Given the description of an element on the screen output the (x, y) to click on. 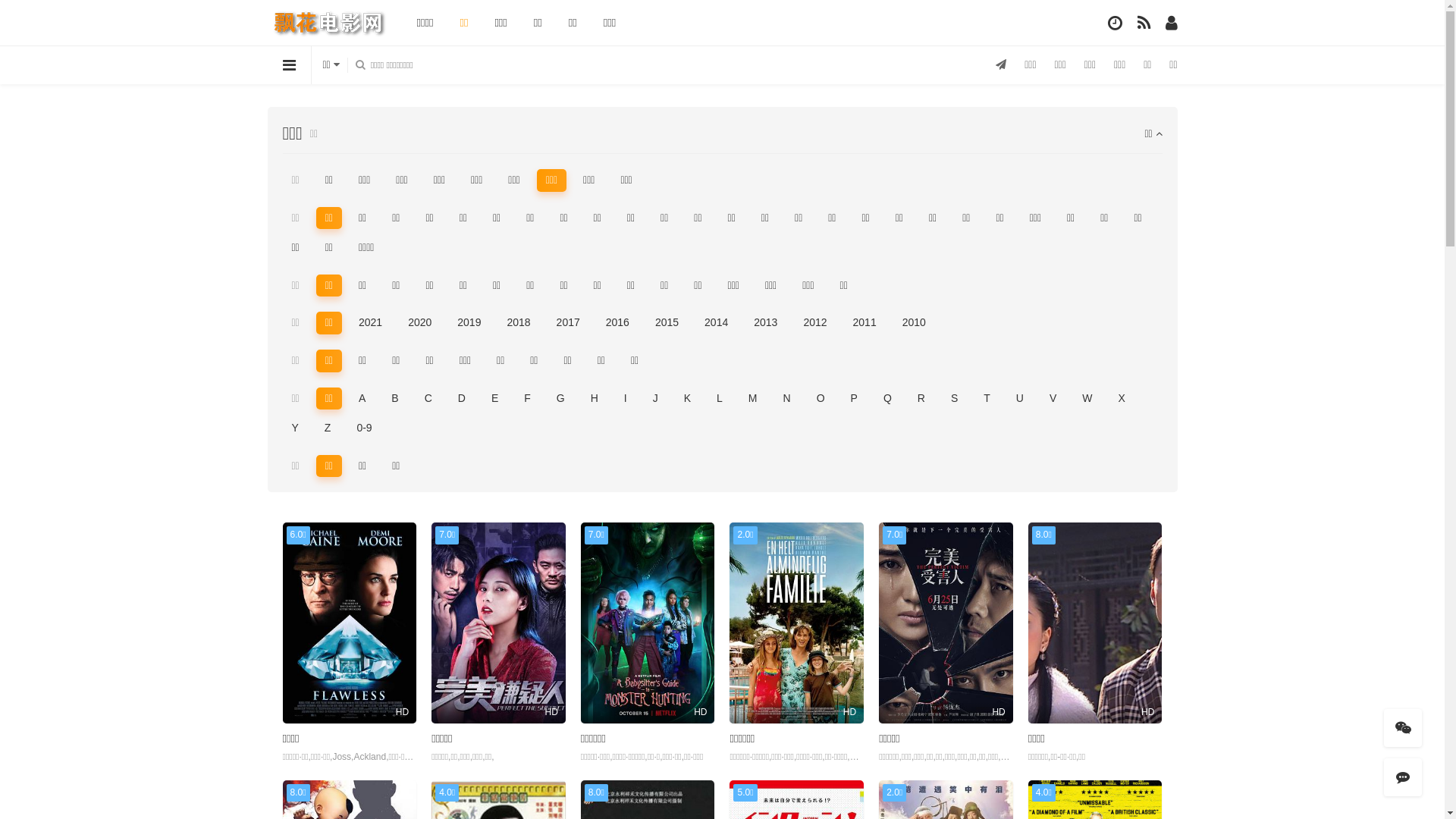
2017 Element type: text (568, 322)
2014 Element type: text (716, 322)
C Element type: text (428, 398)
2015 Element type: text (666, 322)
2018 Element type: text (518, 322)
N Element type: text (787, 398)
J Element type: text (655, 398)
Q Element type: text (887, 398)
2011 Element type: text (864, 322)
2012 Element type: text (814, 322)
D Element type: text (461, 398)
V Element type: text (1052, 398)
L Element type: text (719, 398)
T Element type: text (986, 398)
B Element type: text (394, 398)
2020 Element type: text (419, 322)
Z Element type: text (327, 428)
A Element type: text (361, 398)
Y Element type: text (294, 428)
2019 Element type: text (468, 322)
R Element type: text (921, 398)
2013 Element type: text (765, 322)
2010 Element type: text (914, 322)
S Element type: text (953, 398)
G Element type: text (560, 398)
H Element type: text (594, 398)
X Element type: text (1120, 398)
F Element type: text (526, 398)
M Element type: text (752, 398)
2021 Element type: text (370, 322)
E Element type: text (494, 398)
I Element type: text (625, 398)
K Element type: text (686, 398)
0-9 Element type: text (363, 428)
U Element type: text (1019, 398)
O Element type: text (820, 398)
P Element type: text (853, 398)
W Element type: text (1087, 398)
2016 Element type: text (617, 322)
